Given the description of an element on the screen output the (x, y) to click on. 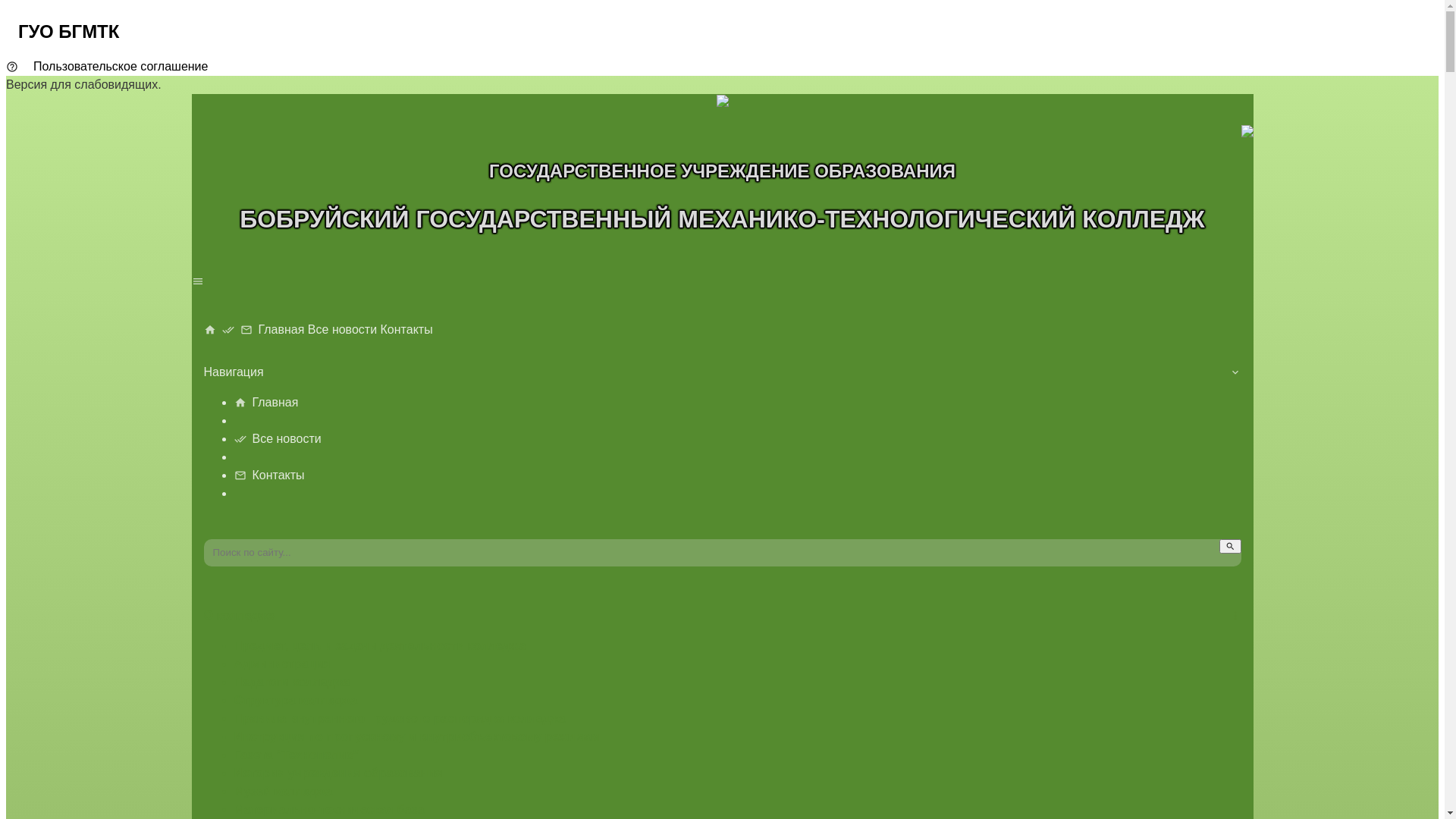
menu Element type: text (721, 280)
search Element type: text (1230, 546)
